Given the description of an element on the screen output the (x, y) to click on. 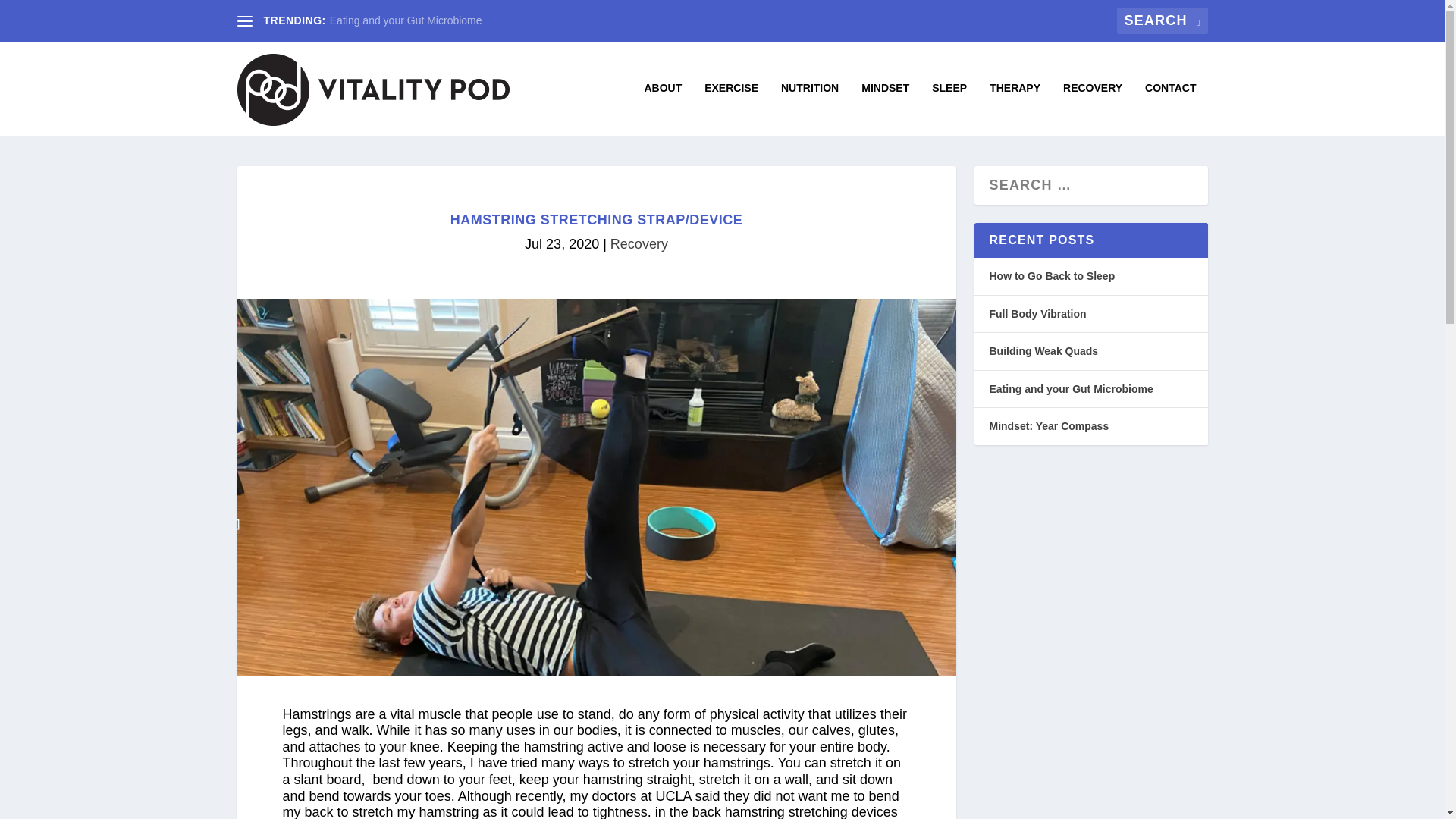
Eating and your Gut Microbiome (405, 20)
RECOVERY (1092, 108)
EXERCISE (731, 108)
THERAPY (1015, 108)
NUTRITION (809, 108)
CONTACT (1169, 108)
Search for: (1161, 20)
Recovery (639, 243)
